Given the description of an element on the screen output the (x, y) to click on. 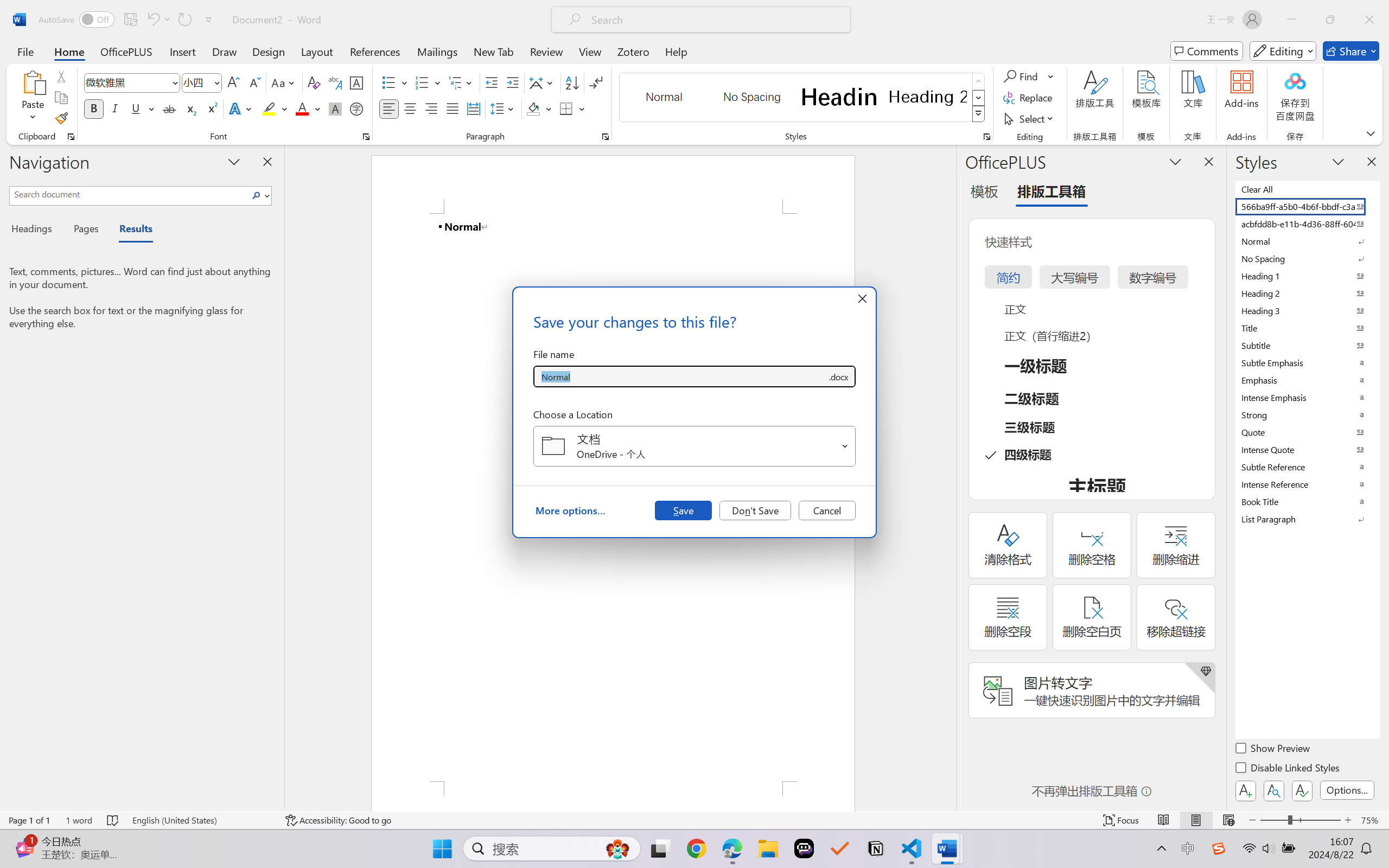
Print Layout (1196, 819)
Save as type (837, 376)
Shading (539, 108)
OfficePLUS (126, 51)
Insert (182, 51)
Intense Reference (1306, 484)
Options... (1346, 789)
Google Chrome (696, 848)
Repeat Text Fill Effect (184, 19)
Comments (1206, 50)
Strikethrough (169, 108)
Character Border (356, 82)
